Given the description of an element on the screen output the (x, y) to click on. 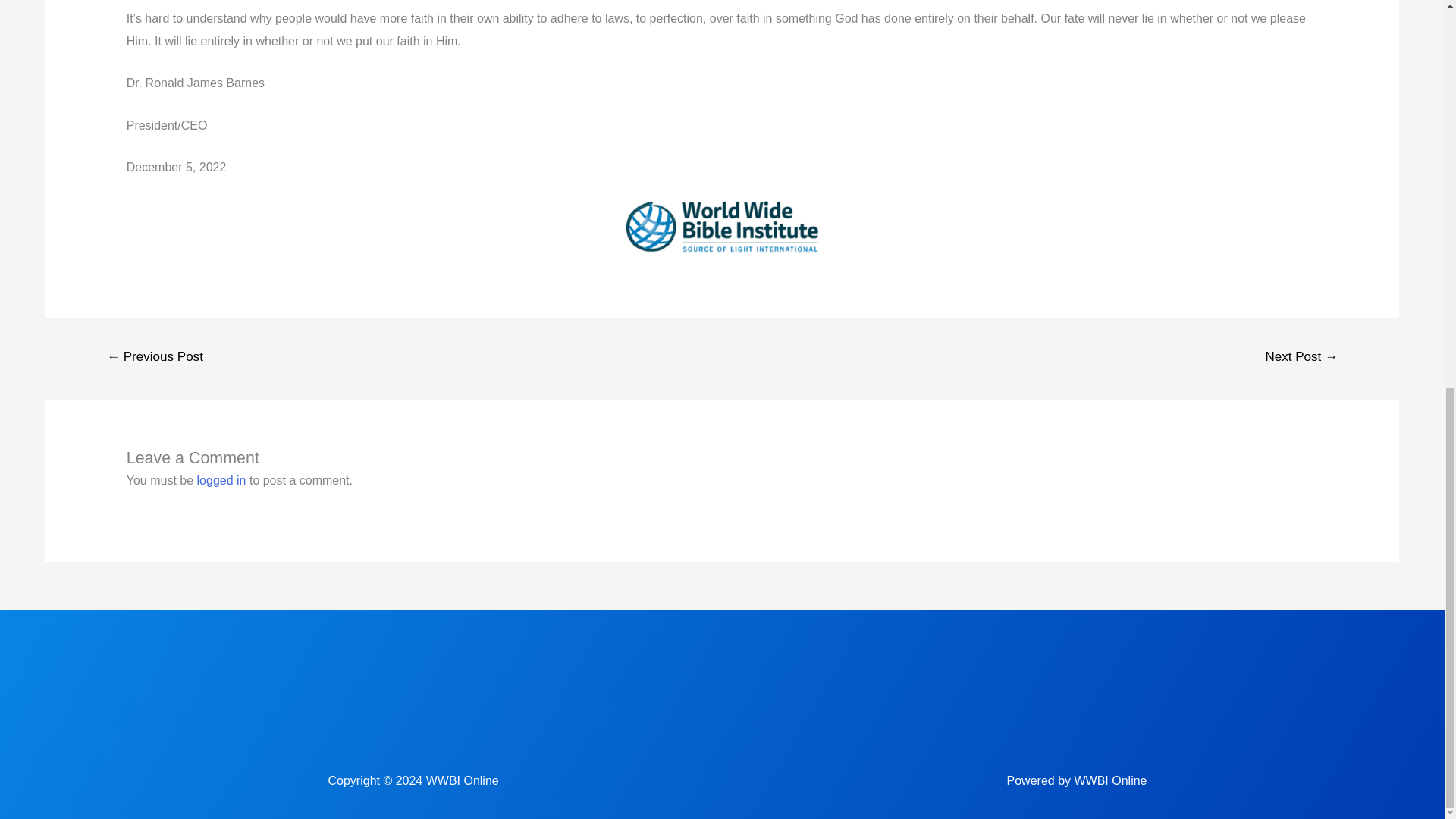
logged in (221, 480)
